Given the description of an element on the screen output the (x, y) to click on. 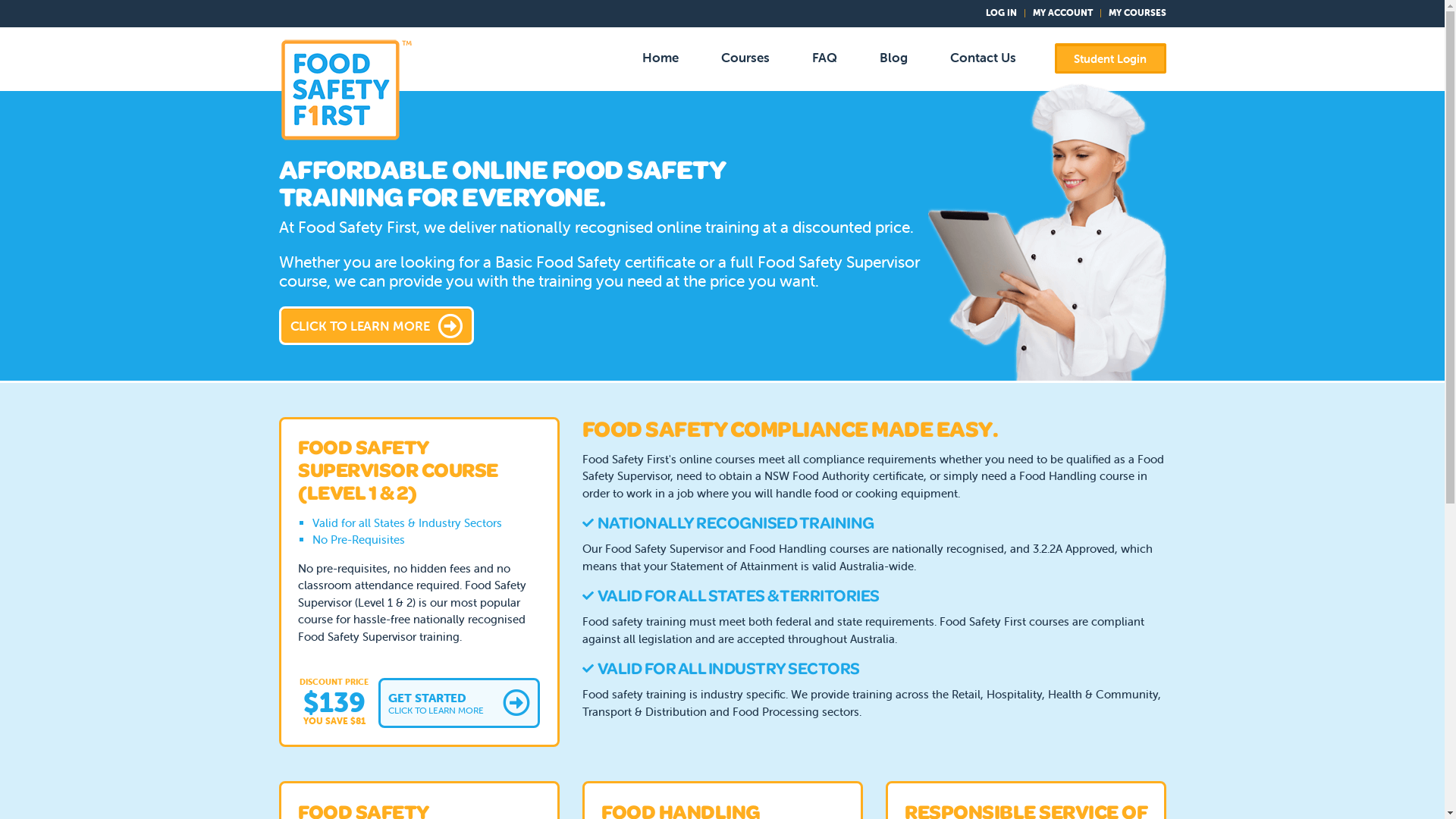
FAQ Element type: text (824, 57)
LOG IN Element type: text (1000, 12)
GET STARTED
CLICK TO LEARN MORE Element type: text (458, 702)
Contact Us Element type: text (982, 57)
Student Login Element type: text (1109, 58)
MY COURSES Element type: text (1137, 12)
MY ACCOUNT Element type: text (1062, 12)
Home Element type: text (660, 57)
CLICK TO LEARN MORE Element type: text (376, 325)
Blog Element type: text (893, 57)
Courses Element type: text (744, 57)
Skip to main content Element type: text (0, 0)
